Given the description of an element on the screen output the (x, y) to click on. 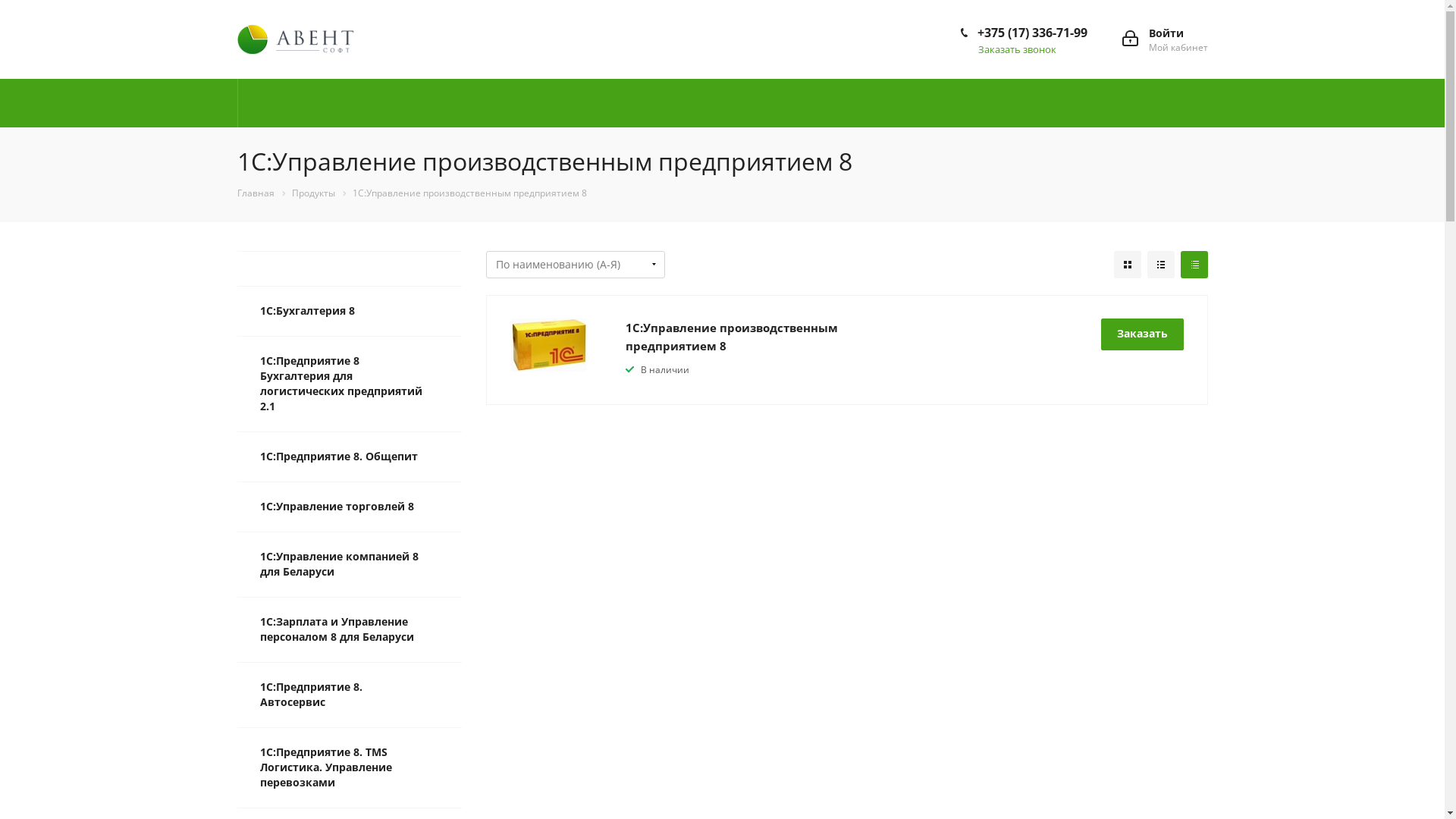
  Element type: text (1159, 264)
  Element type: text (1126, 264)
  Element type: text (1193, 264)
+375 (17) 336-71-99 Element type: text (1031, 32)
Y Element type: text (4, 4)
